Given the description of an element on the screen output the (x, y) to click on. 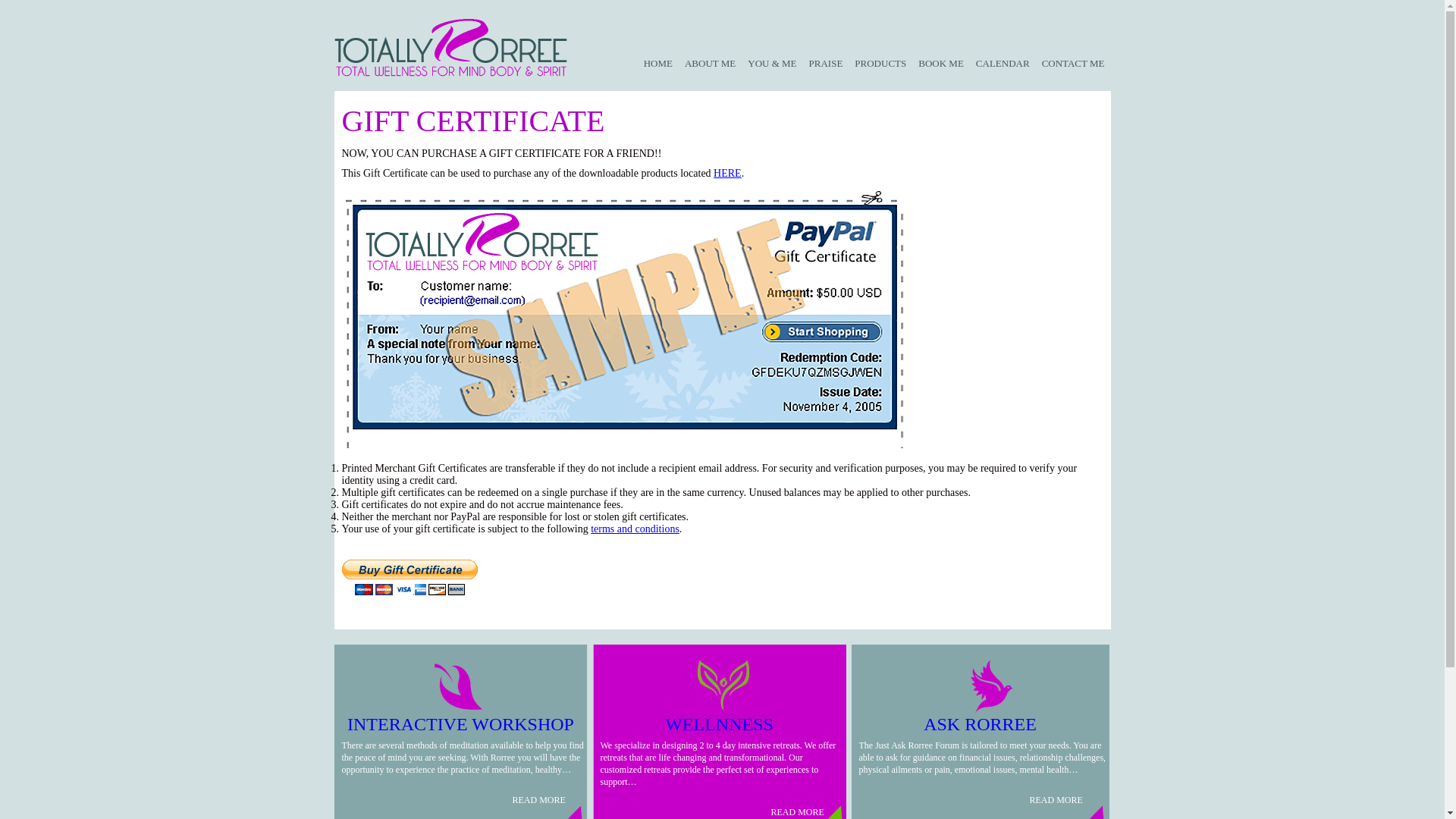
READ MORE (452, 793)
INTERACTIVE WORKSHOP (460, 723)
HERE (727, 173)
READ MORE (970, 793)
WELLNNESS (719, 723)
ASK RORREE (979, 723)
terms and conditions (635, 528)
READ MORE (711, 806)
CONTACT ME (1072, 37)
